Given the description of an element on the screen output the (x, y) to click on. 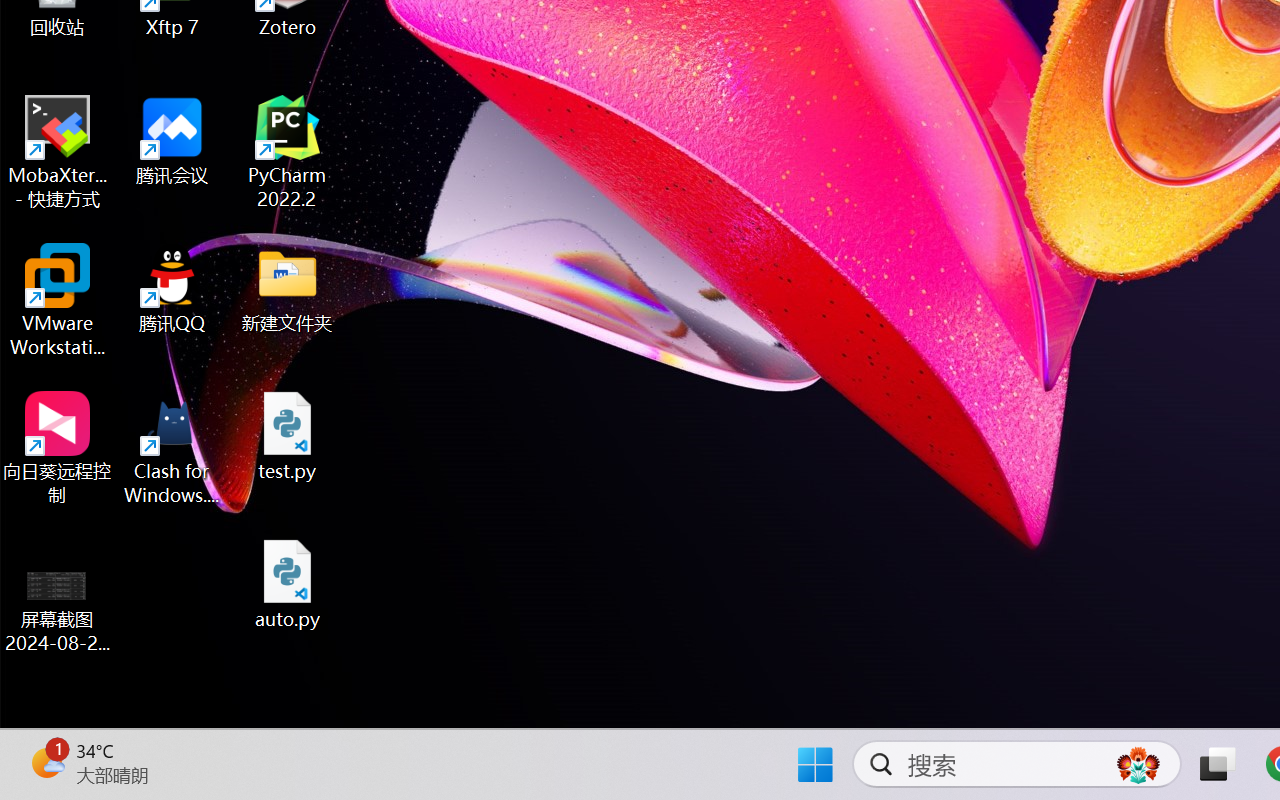
PyCharm 2022.2 (287, 152)
